Given the description of an element on the screen output the (x, y) to click on. 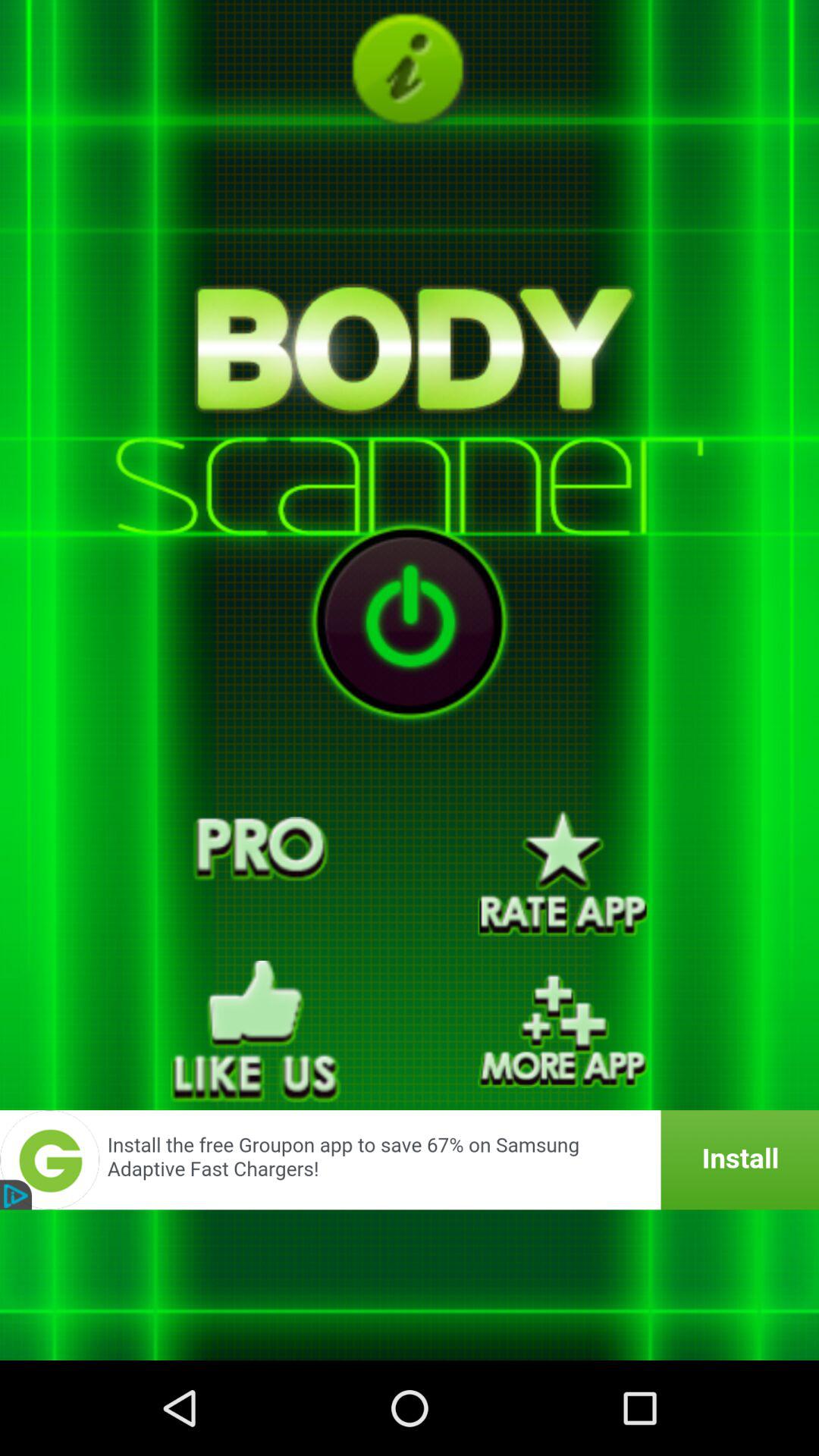
buy pro version of app (255, 873)
